Given the description of an element on the screen output the (x, y) to click on. 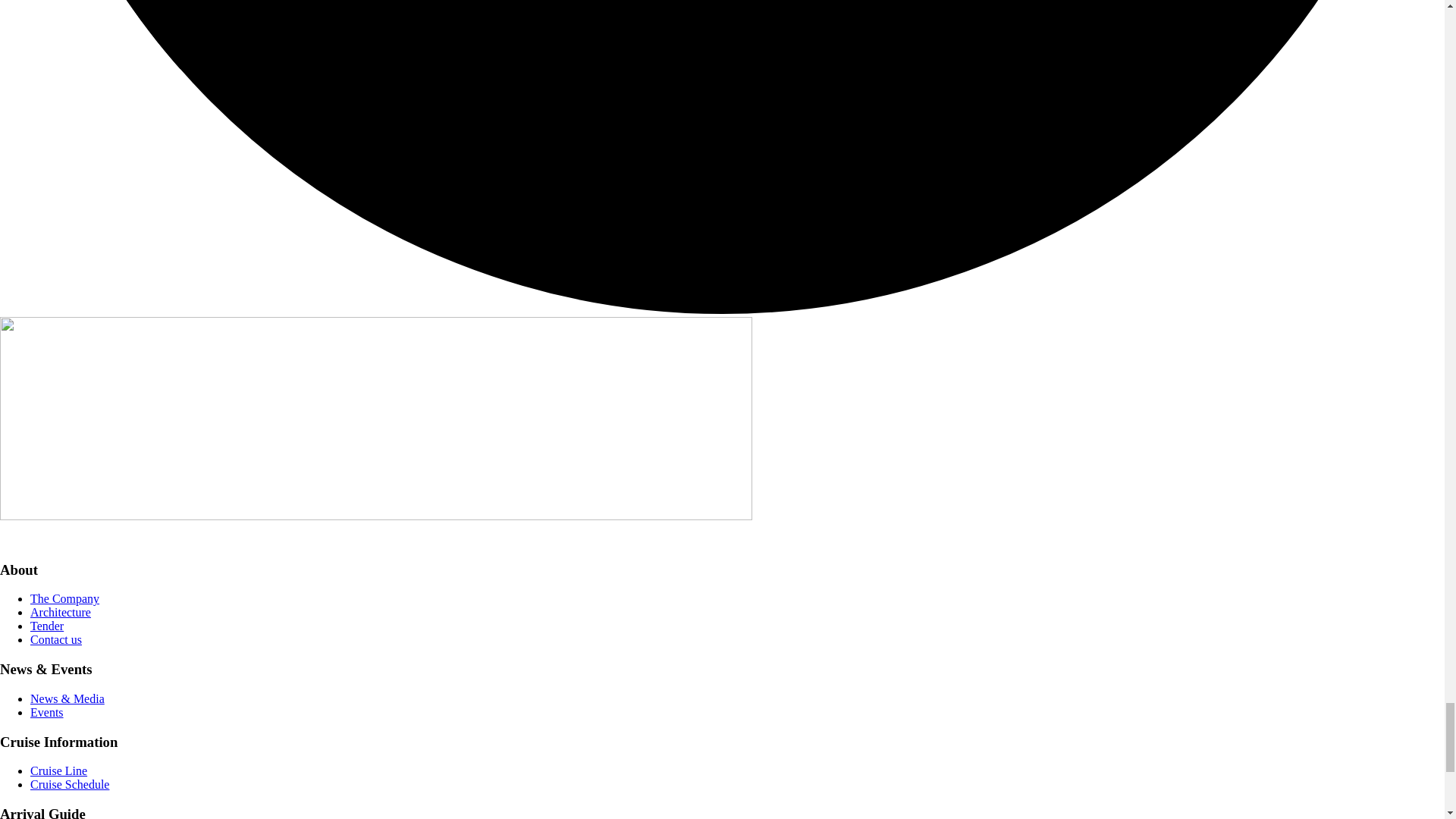
Architecture (60, 612)
Cruise Line (58, 770)
Contact us (55, 639)
The Company (64, 598)
Tender (47, 625)
Events (47, 712)
Cruise Schedule (69, 784)
